Given the description of an element on the screen output the (x, y) to click on. 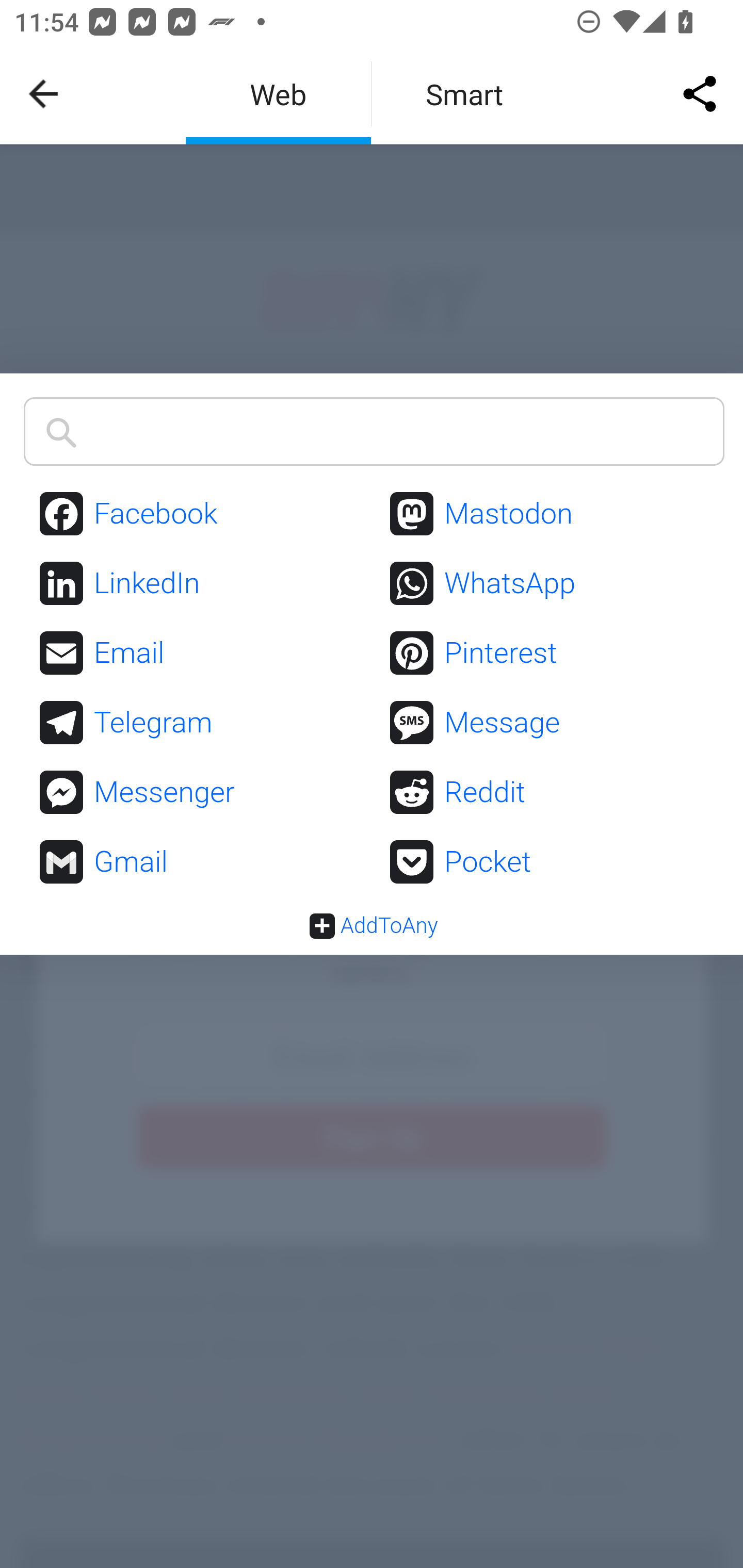
Web (277, 93)
Smart (464, 93)
Facebook (198, 514)
Mastodon (548, 514)
LinkedIn (198, 583)
WhatsApp (548, 583)
Email (198, 653)
Pinterest (548, 653)
Telegram (198, 722)
Message (548, 722)
Messenger (198, 792)
Reddit (548, 792)
Gmail (198, 861)
Pocket (548, 861)
AddToAny (373, 925)
